Given the description of an element on the screen output the (x, y) to click on. 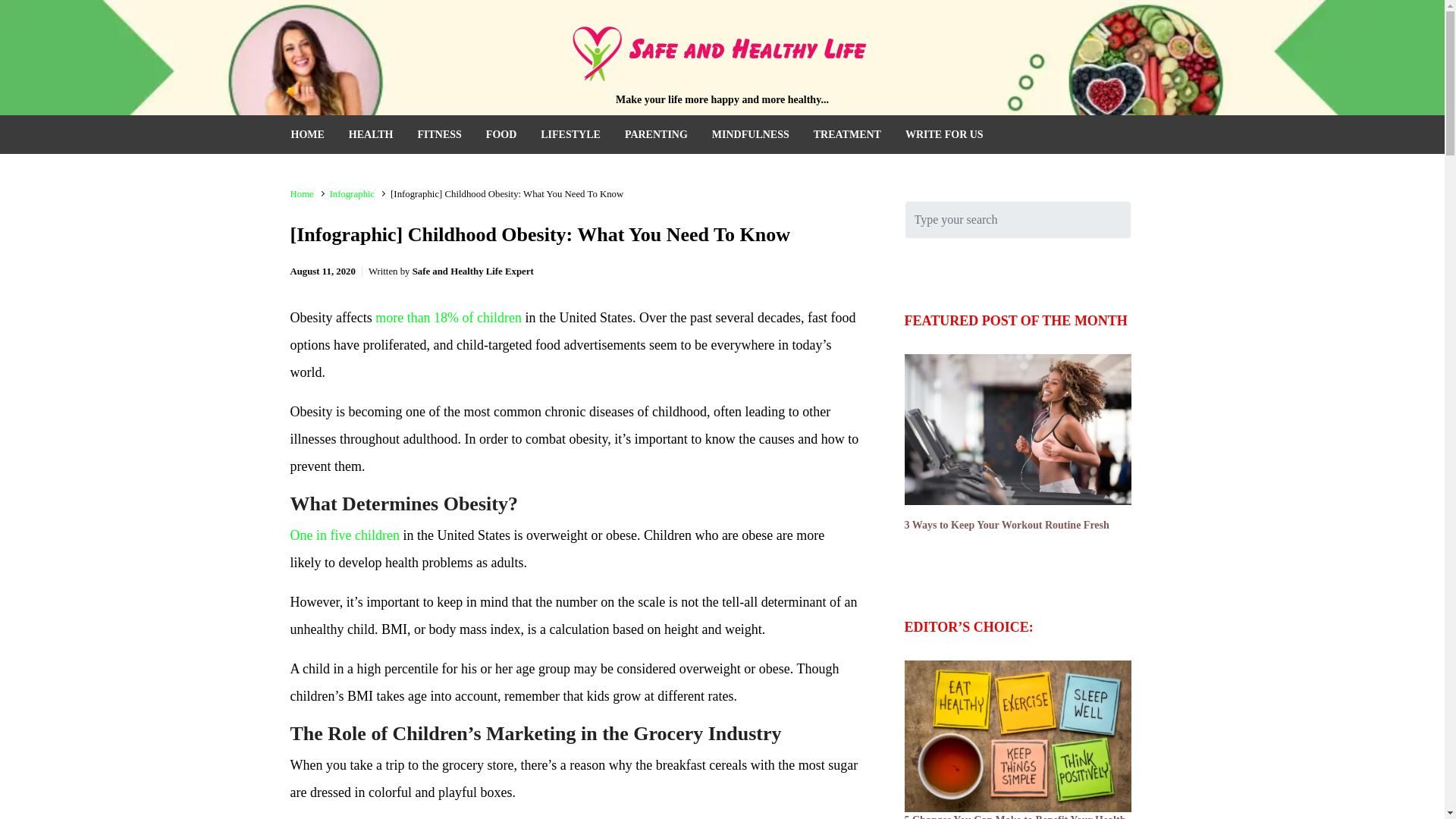
HOME (307, 134)
Safe and Healthy Life Expert (473, 271)
MINDFULNESS (750, 134)
Infographic (352, 194)
PARENTING (656, 134)
One in five children (343, 534)
TREATMENT (847, 134)
FITNESS (438, 134)
HEALTH (370, 134)
Home (301, 194)
FOOD (501, 134)
Skip to main content (20, 11)
Infographic (352, 194)
LIFESTYLE (570, 134)
WRITE FOR US (944, 134)
